Given the description of an element on the screen output the (x, y) to click on. 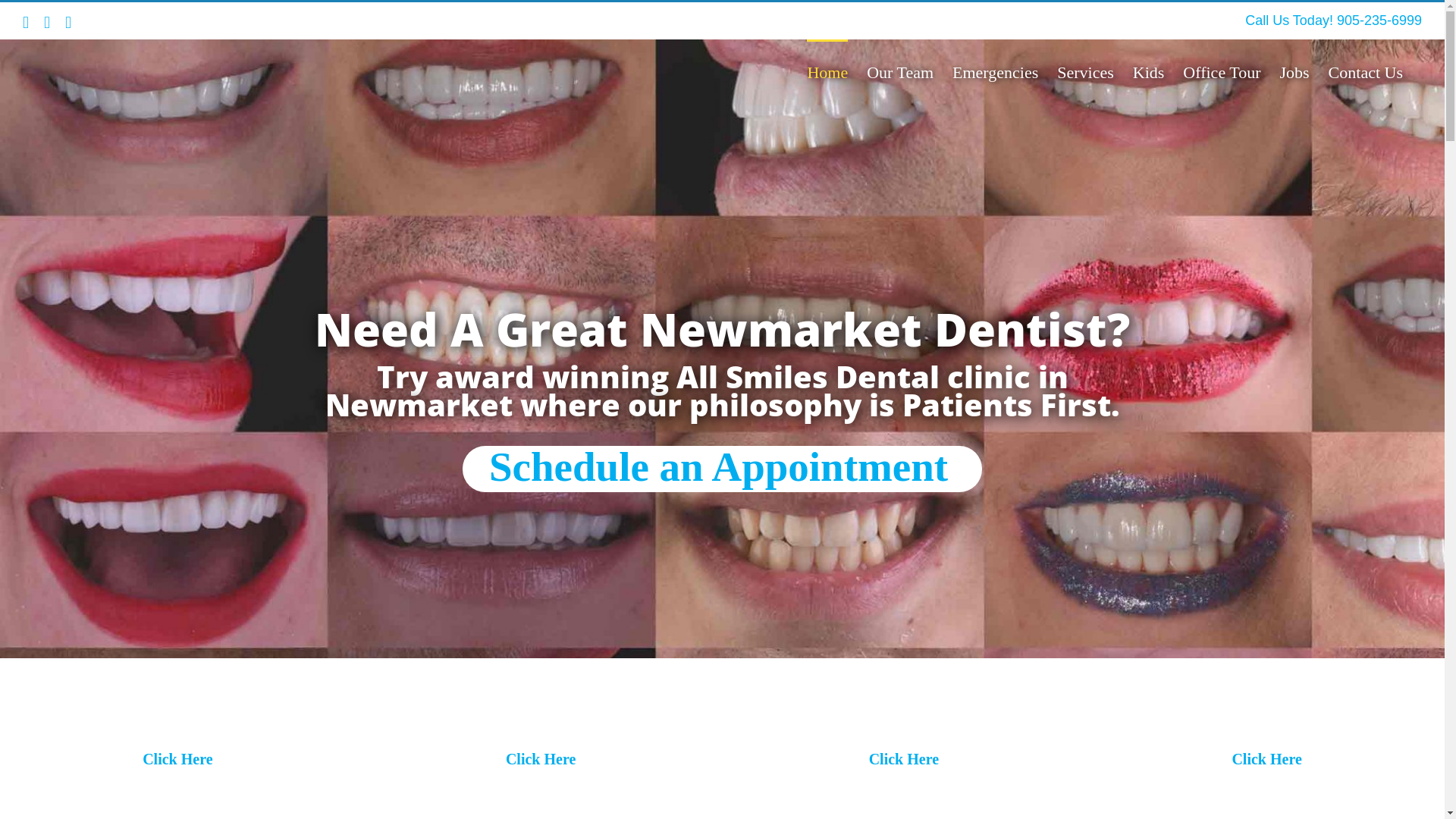
Contact Us Element type: text (1365, 71)
Emergencies Element type: text (995, 71)
Implants Element type: text (549, 722)
Kids Element type: text (1275, 722)
Kids Element type: text (1148, 71)
Our Team Element type: text (899, 71)
Office Tour Element type: text (1221, 71)
Home Element type: text (826, 71)
Click Here Element type: text (903, 758)
Cosmetic Element type: text (912, 722)
Click Here Element type: text (1266, 758)
Emergencies Element type: text (186, 722)
Jobs Element type: text (1293, 71)
Services Element type: text (1085, 71)
Click Here Element type: text (540, 758)
Facebook Element type: text (46, 22)
YouTube Element type: text (25, 22)
905-235-6999 Element type: text (1378, 20)
Click Here Element type: text (177, 758)
Instagram Element type: text (68, 22)
